Given the description of an element on the screen output the (x, y) to click on. 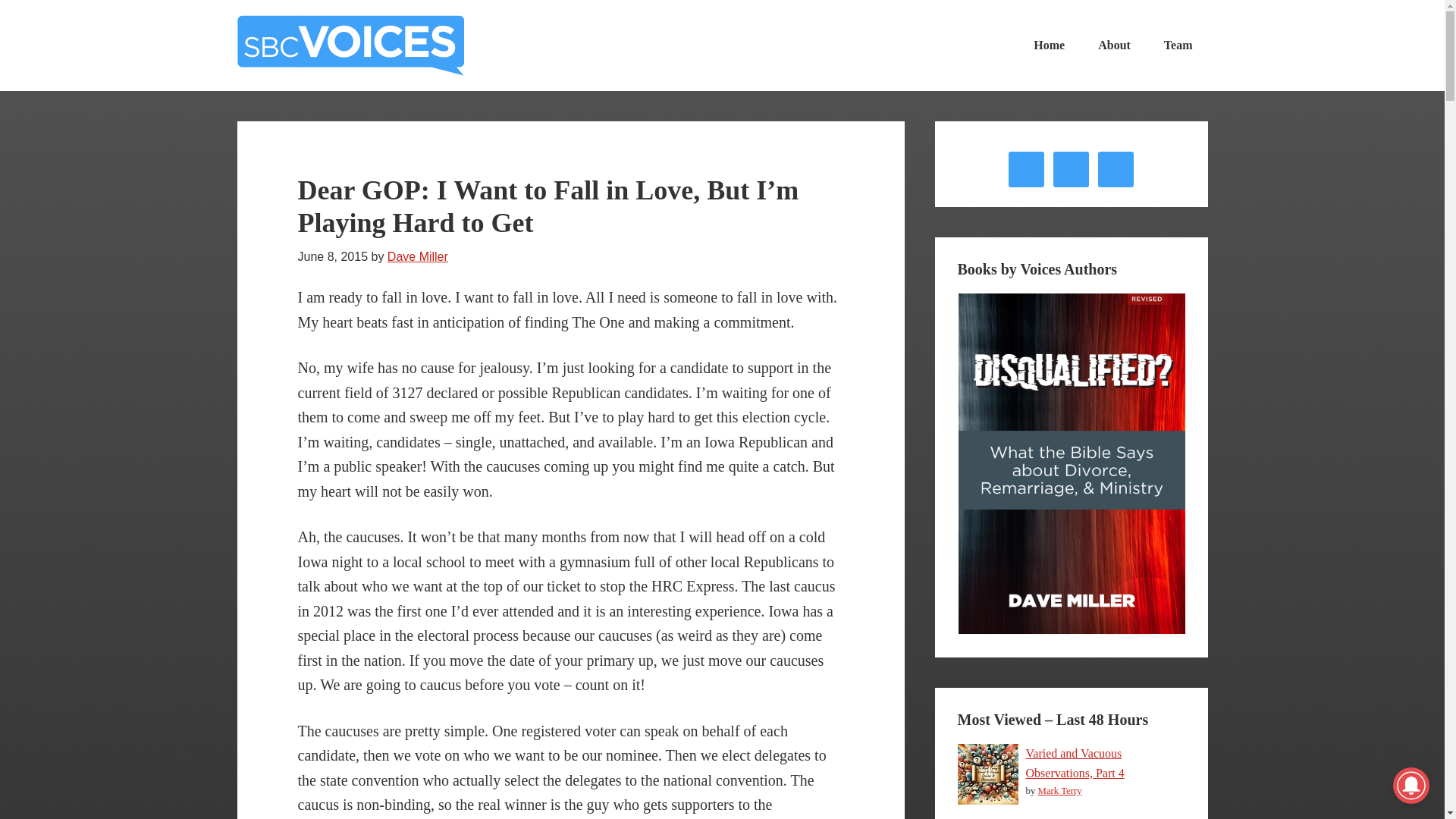
Varied and Vacuous Observations, Part 4 (1074, 762)
Dave Miller (417, 256)
Team (1178, 45)
Home (1048, 45)
SBC Voices (349, 45)
Mark Terry (1058, 790)
About (1114, 45)
